Given the description of an element on the screen output the (x, y) to click on. 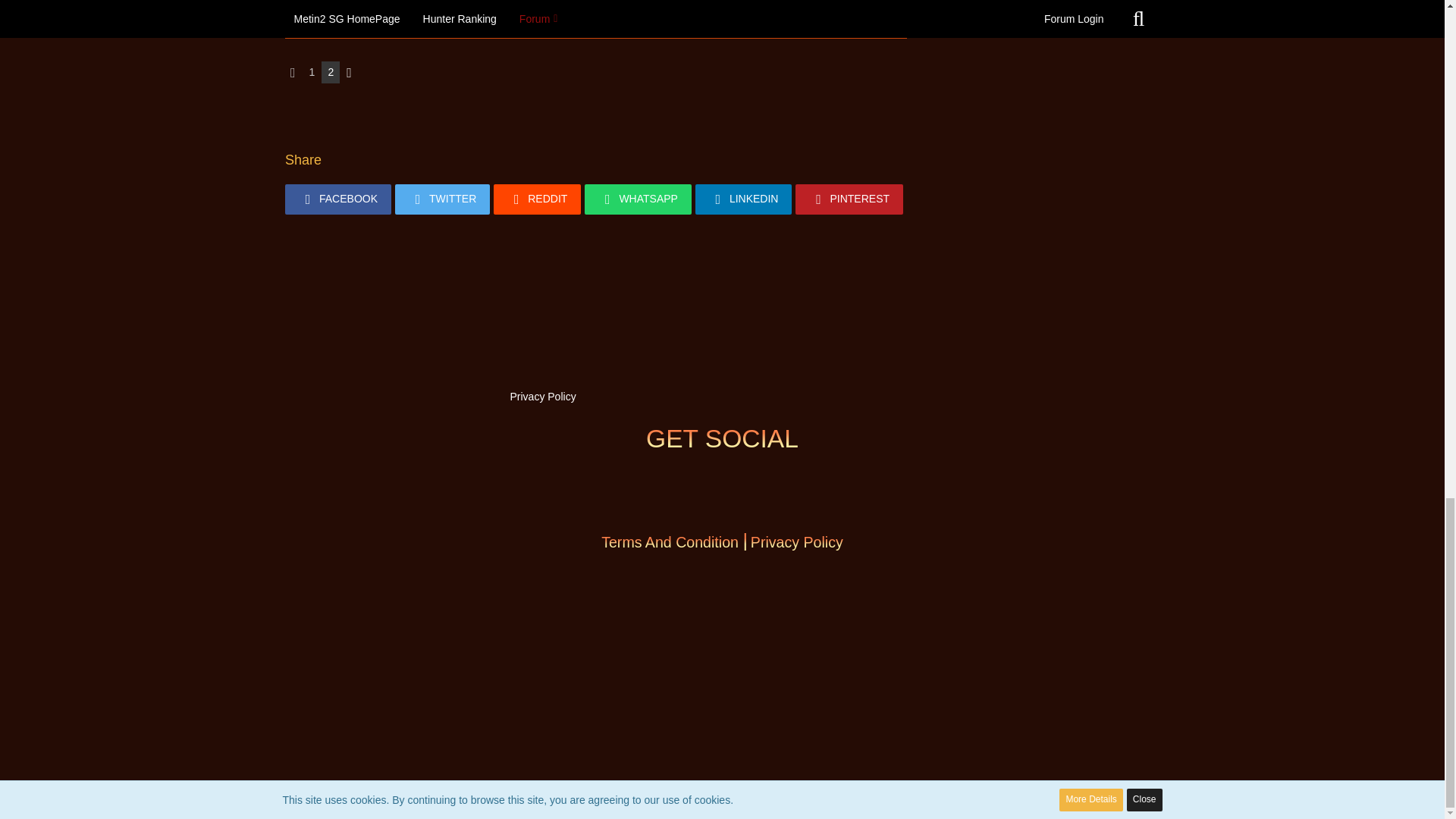
Pinterest (848, 199)
WhatsApp (638, 199)
Twitter (441, 199)
Reddit (536, 199)
Facebook (338, 199)
LinkedIn (743, 199)
